Given the description of an element on the screen output the (x, y) to click on. 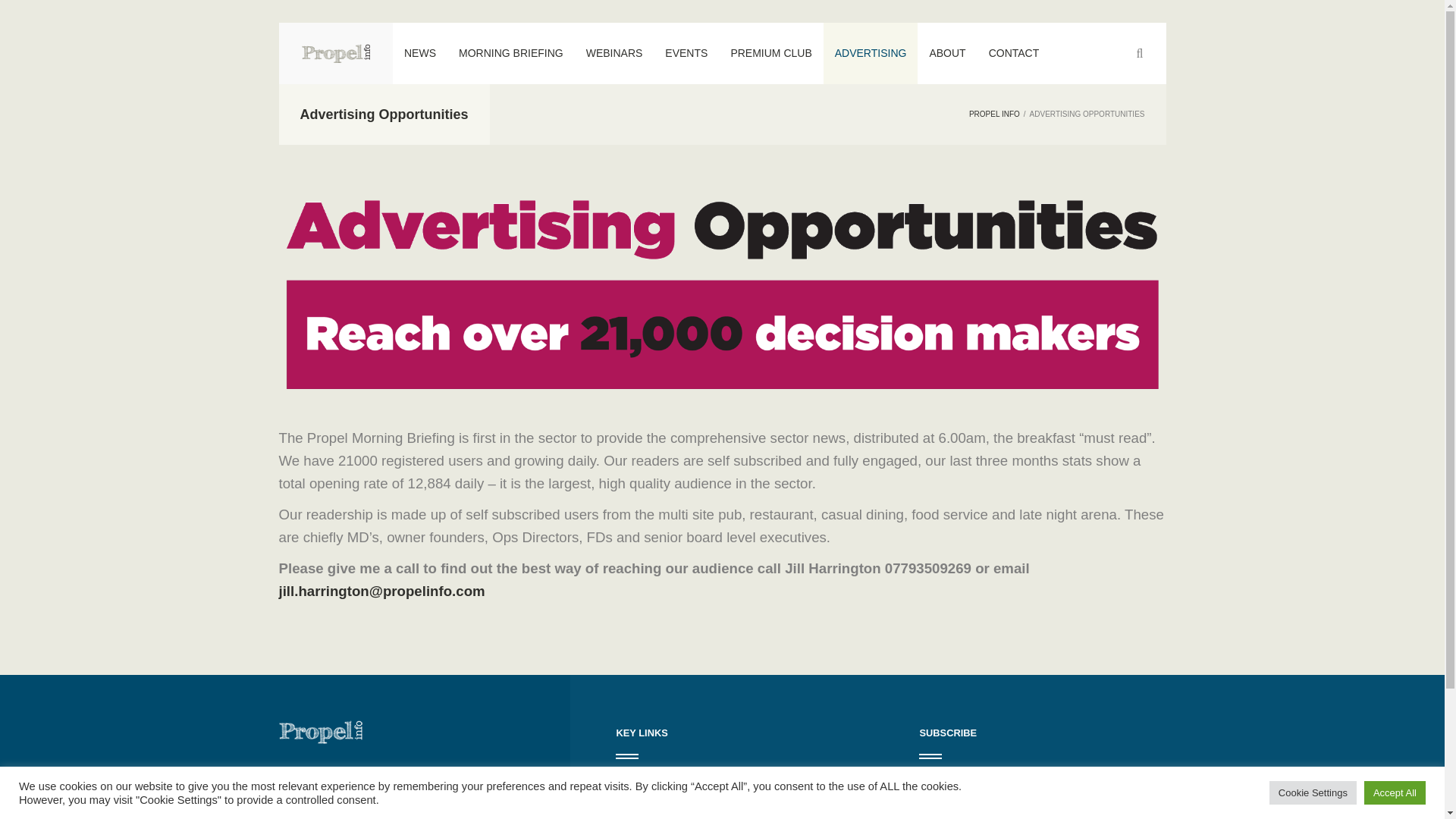
NEWS (419, 53)
Go to Propel Info. (994, 113)
